Given the description of an element on the screen output the (x, y) to click on. 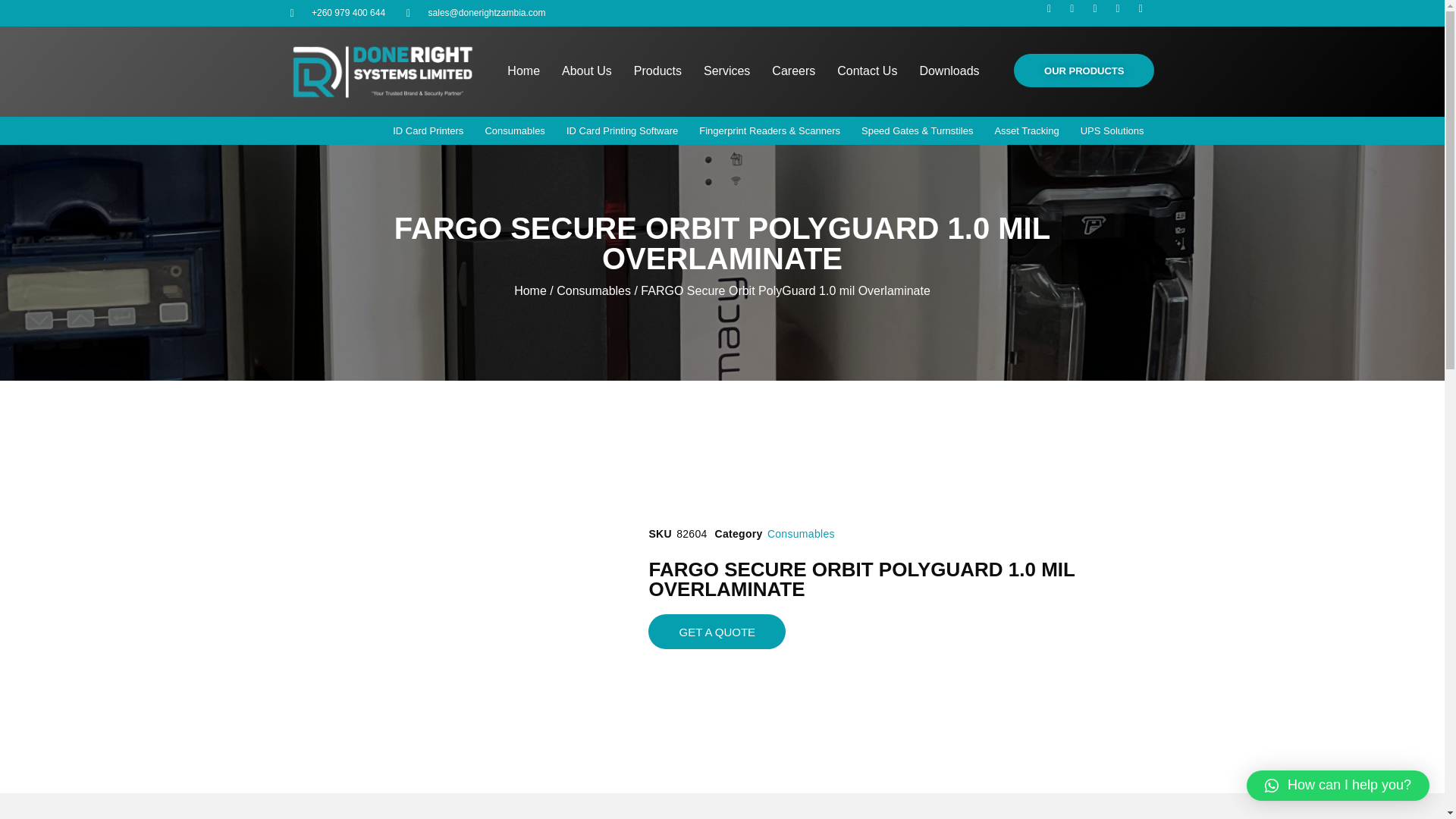
Consumables (593, 290)
About Us (587, 71)
Products (657, 71)
OUR PRODUCTS (1083, 70)
Asset Tracking (1026, 130)
GET A QUOTE (716, 631)
Careers (793, 71)
Consumables (515, 130)
Consumables (800, 533)
Home (523, 71)
Downloads (949, 71)
UPS Solutions (1112, 130)
Contact Us (866, 71)
Home (530, 290)
Services (726, 71)
